Given the description of an element on the screen output the (x, y) to click on. 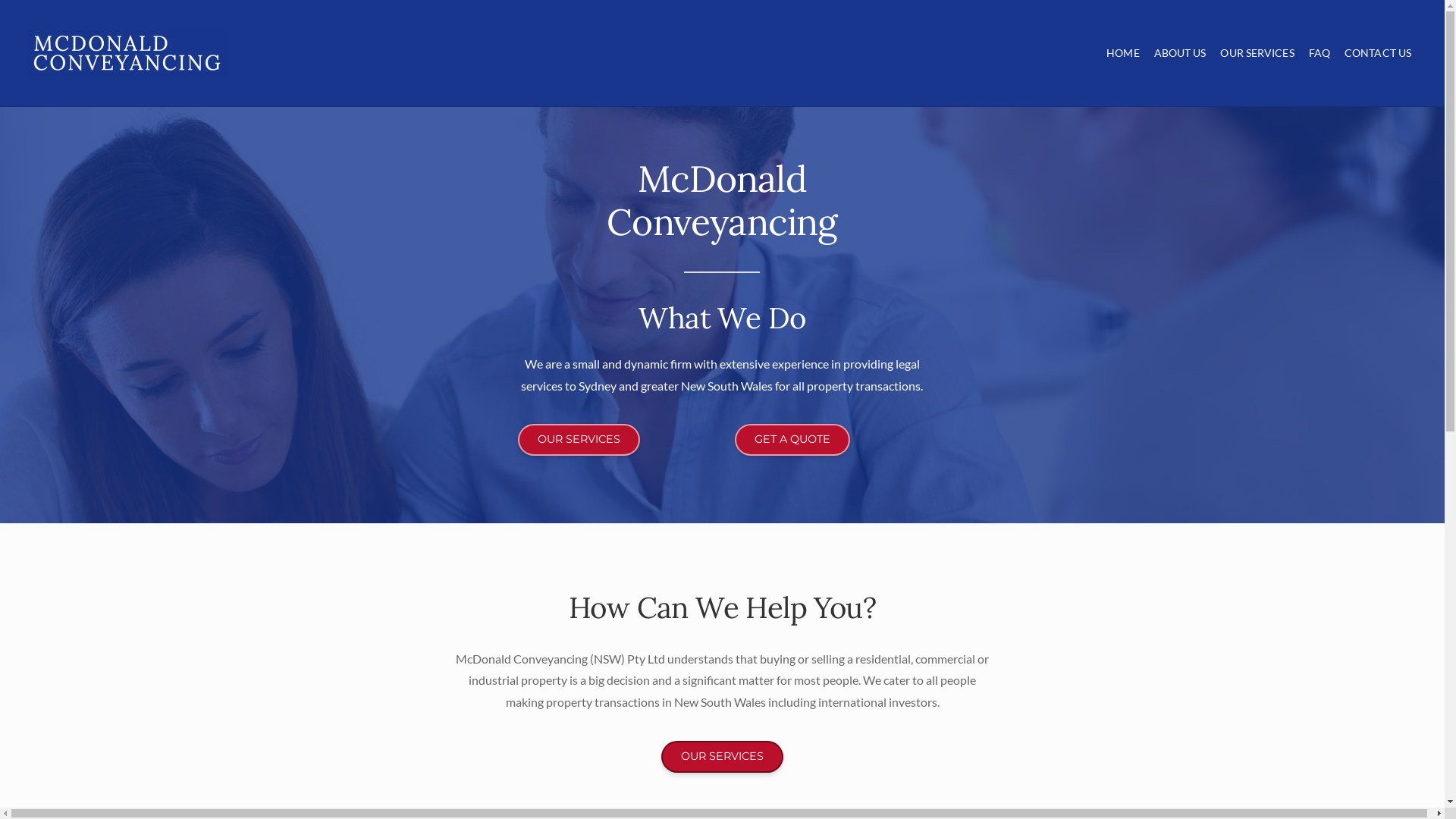
CONTACT US Element type: text (1377, 52)
OUR SERVICES Element type: text (1256, 52)
FAQ Element type: text (1319, 52)
GET A QUOTE Element type: text (791, 439)
HOME Element type: text (1122, 52)
ABOUT US Element type: text (1180, 52)
OUR SERVICES Element type: text (722, 756)
OUR SERVICES Element type: text (578, 439)
